Given the description of an element on the screen output the (x, y) to click on. 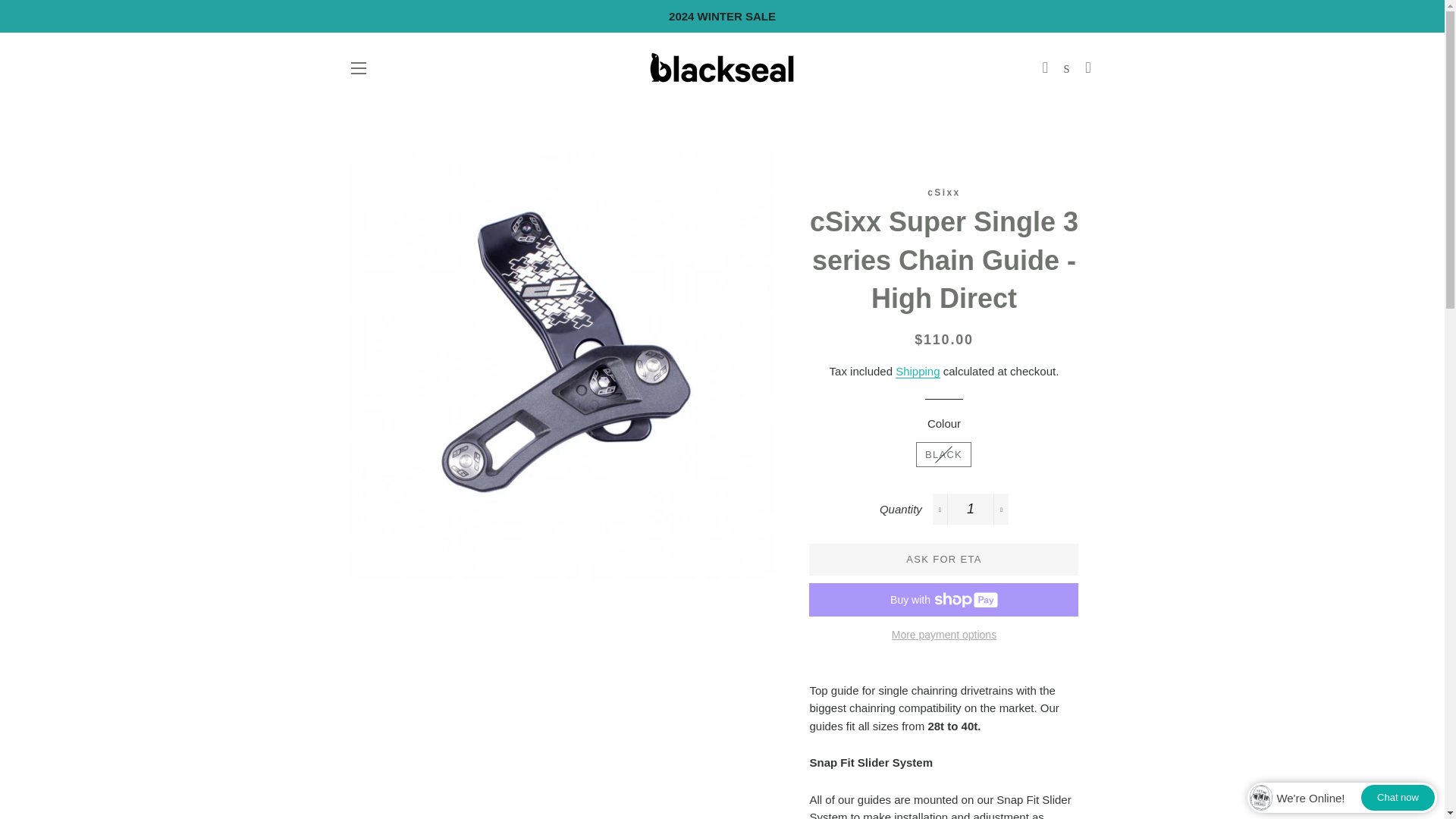
1 (971, 508)
SITE NAVIGATION (358, 67)
